Given the description of an element on the screen output the (x, y) to click on. 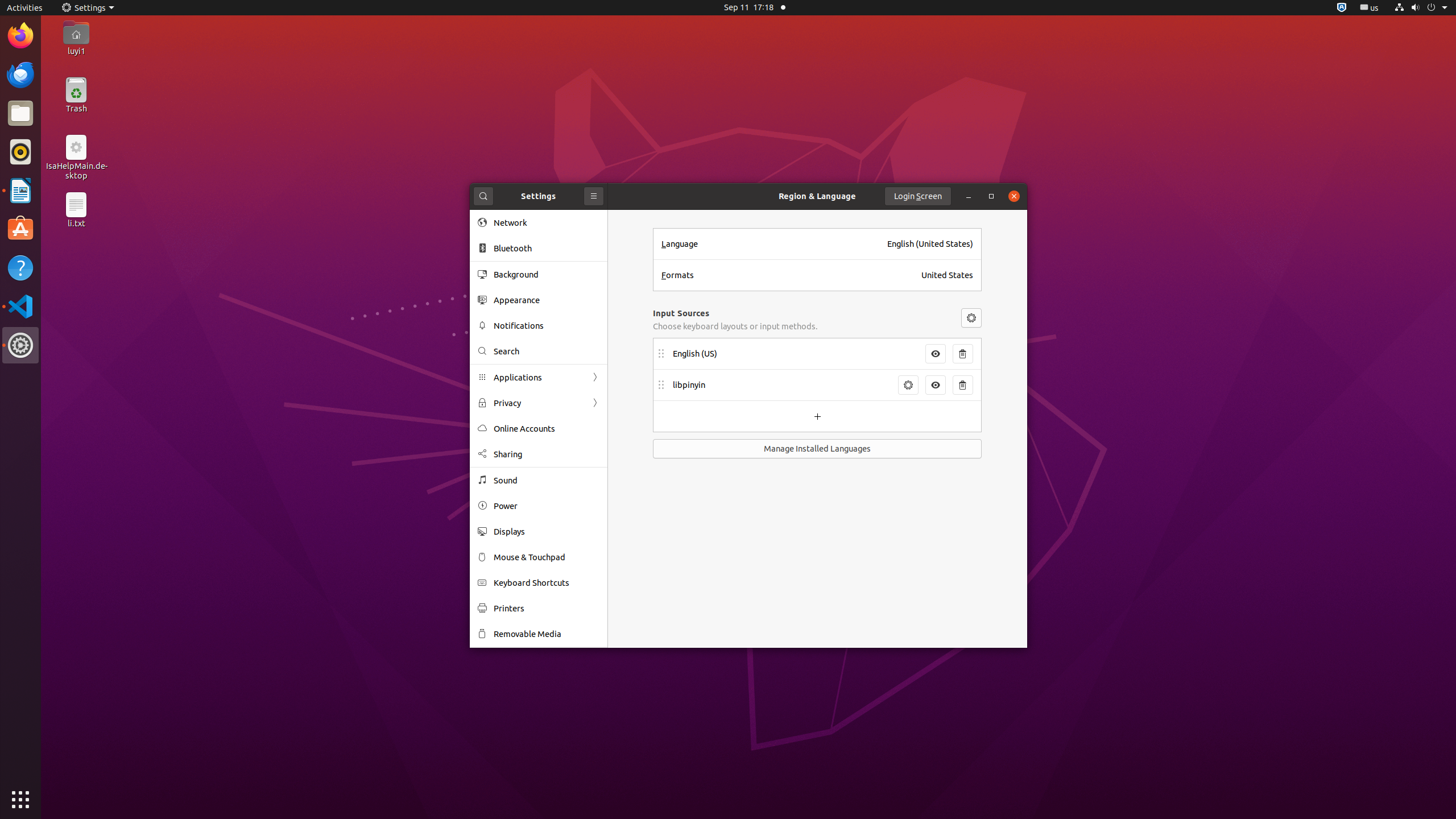
Close Element type: push-button (1013, 195)
Files Element type: push-button (20, 113)
Settings Element type: push-button (20, 344)
Rhythmbox Element type: push-button (20, 151)
Firefox Web Browser Element type: push-button (20, 35)
